Given the description of an element on the screen output the (x, y) to click on. 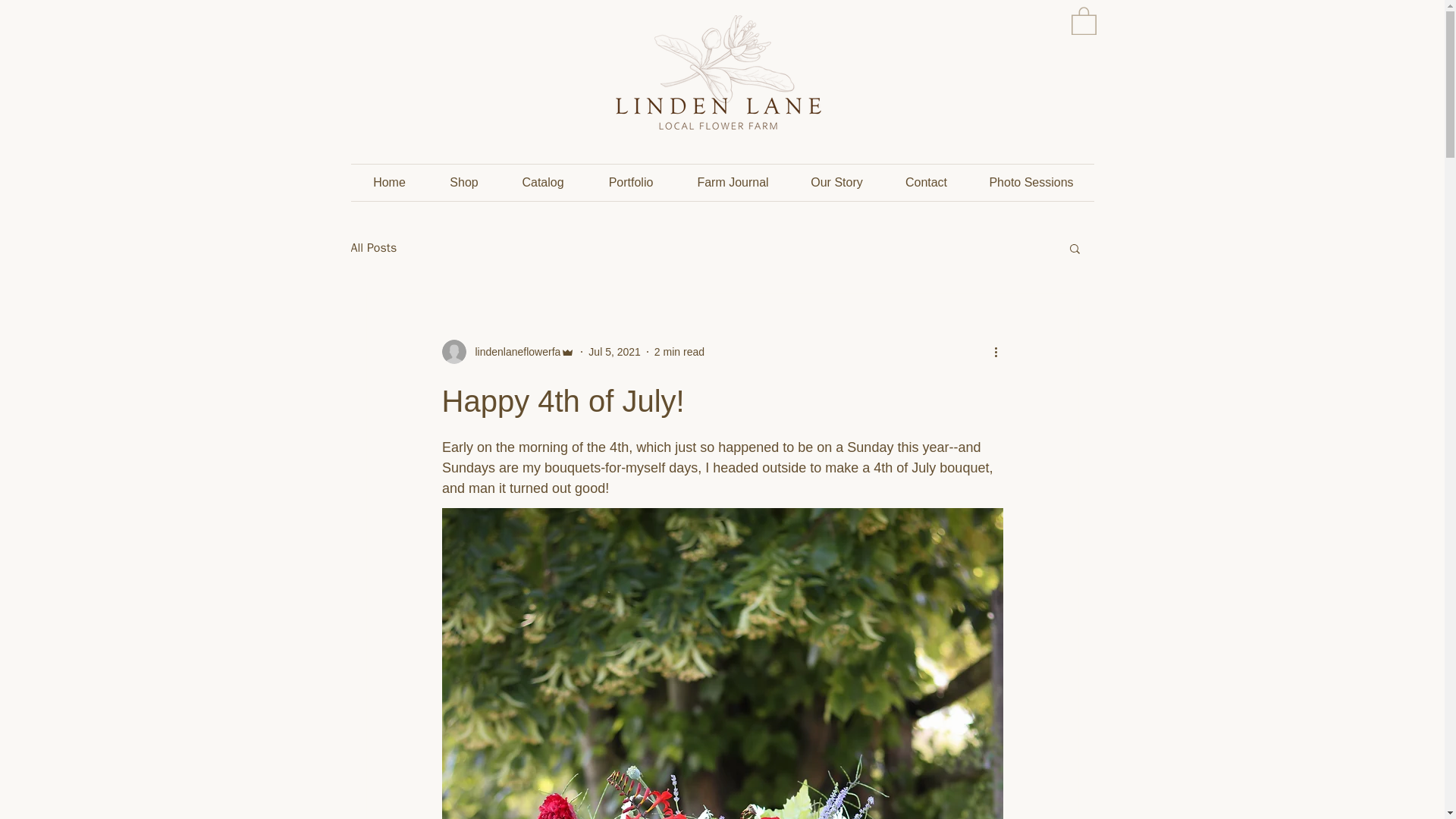
Our Story (836, 182)
All Posts (373, 247)
lindenlaneflowerfa (512, 351)
Contact (926, 182)
Photo Sessions (1031, 182)
Catalog (543, 182)
Home (389, 182)
lindenlaneflowerfa (508, 351)
Jul 5, 2021 (614, 351)
Shop (463, 182)
Farm Journal (733, 182)
2 min read (678, 351)
Portfolio (630, 182)
